Given the description of an element on the screen output the (x, y) to click on. 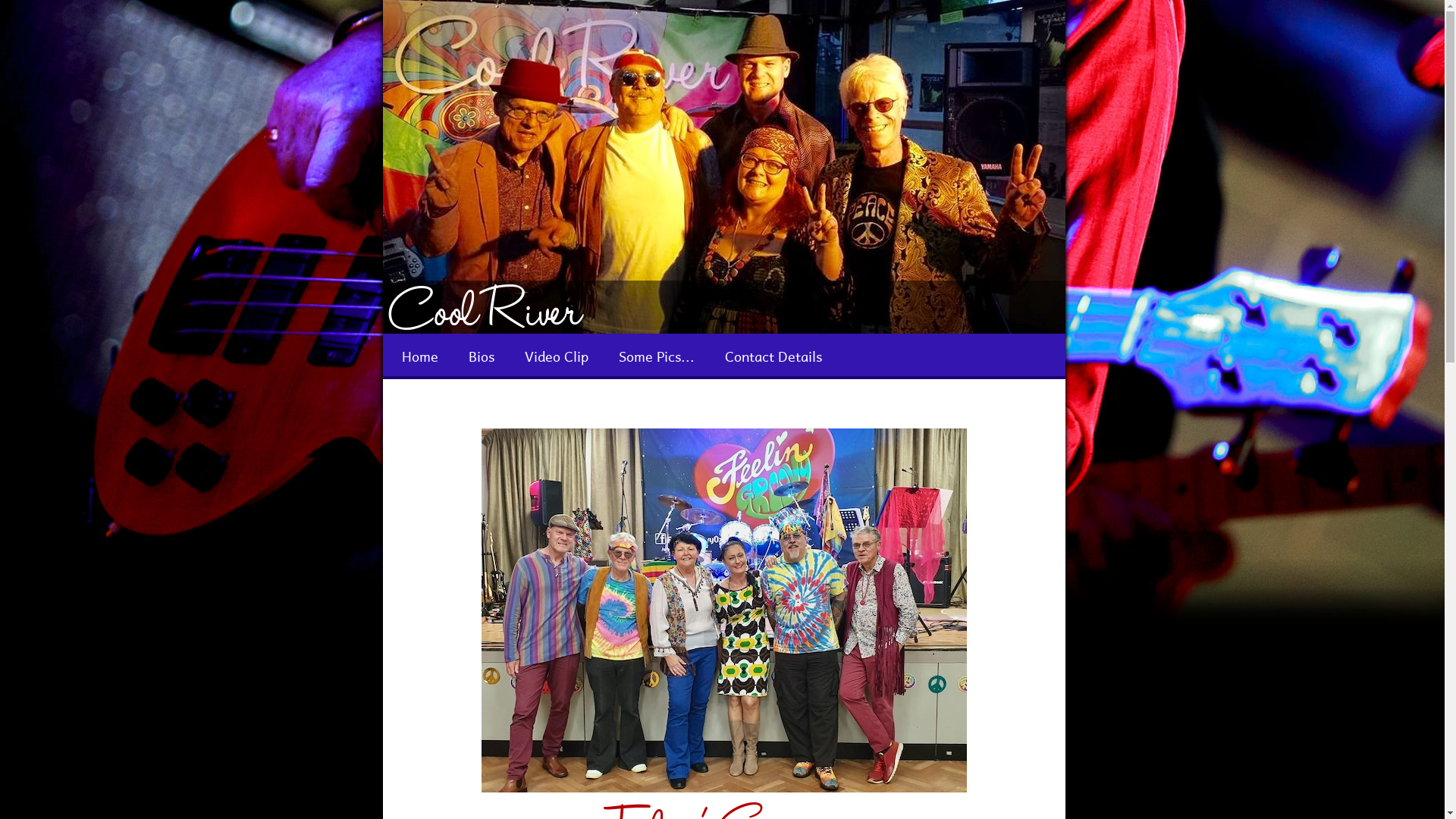
Contact Details Element type: text (773, 356)
Some Pics... Element type: text (656, 356)
Video Clip Element type: text (556, 356)
Home Element type: text (419, 356)
Bios Element type: text (481, 356)
